Given the description of an element on the screen output the (x, y) to click on. 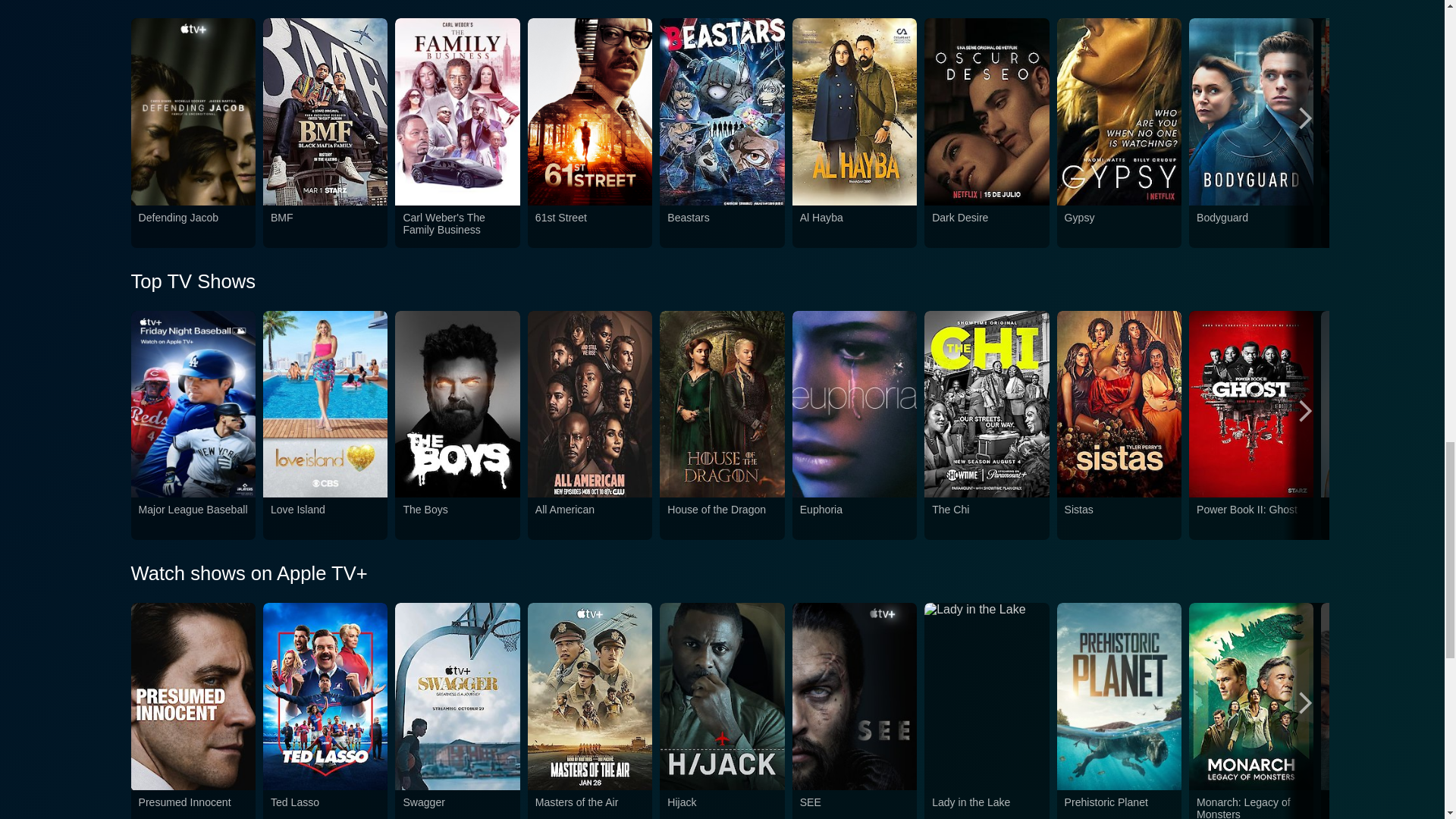
Bodyguard (1251, 226)
Tokyo Vice (1382, 226)
Carl Weber's The Family Business (457, 226)
Al Hayba (853, 226)
61st Street (590, 226)
Defending Jacob (192, 226)
The Boys (457, 518)
Beastars (721, 226)
All American (590, 518)
Gypsy (1118, 226)
House of the Dragon (721, 518)
Dark Desire (986, 226)
BMF (325, 226)
Major League Baseball (192, 518)
Love Island (325, 518)
